Given the description of an element on the screen output the (x, y) to click on. 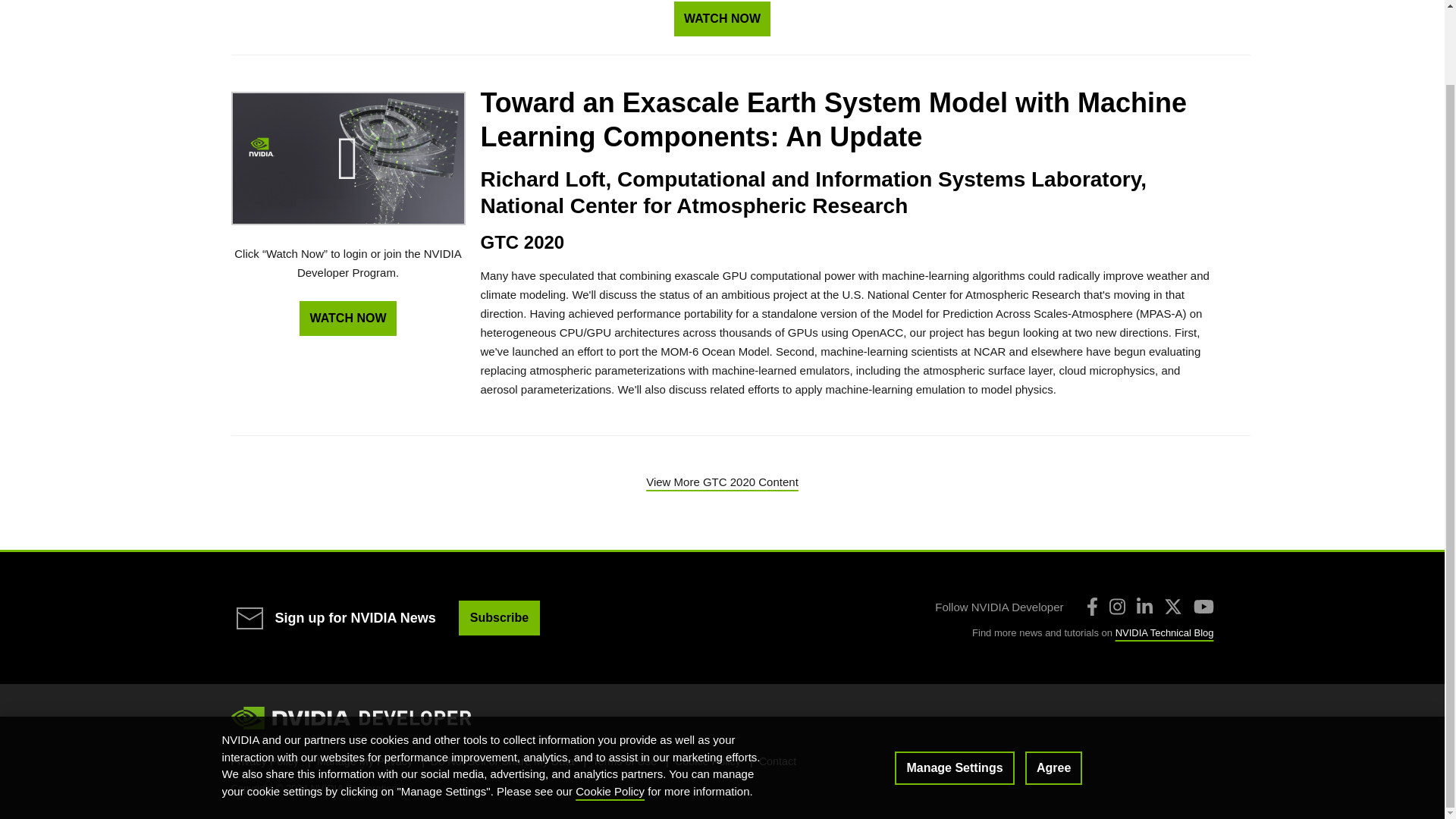
Do Not Sell or Share My Data (502, 761)
Cookie Policy (610, 707)
Subscribe (499, 617)
Contact (777, 761)
WATCH NOW (722, 18)
Manage Settings (954, 684)
Twitter (1171, 606)
Manage My Privacy (364, 761)
WATCH NOW (347, 318)
View More GTC 2020 Content (721, 481)
YouTube (1203, 606)
Agree (1053, 684)
Privacy Policy (264, 761)
Cookie Policy (708, 761)
NVIDIA Technical Blog (1164, 632)
